Given the description of an element on the screen output the (x, y) to click on. 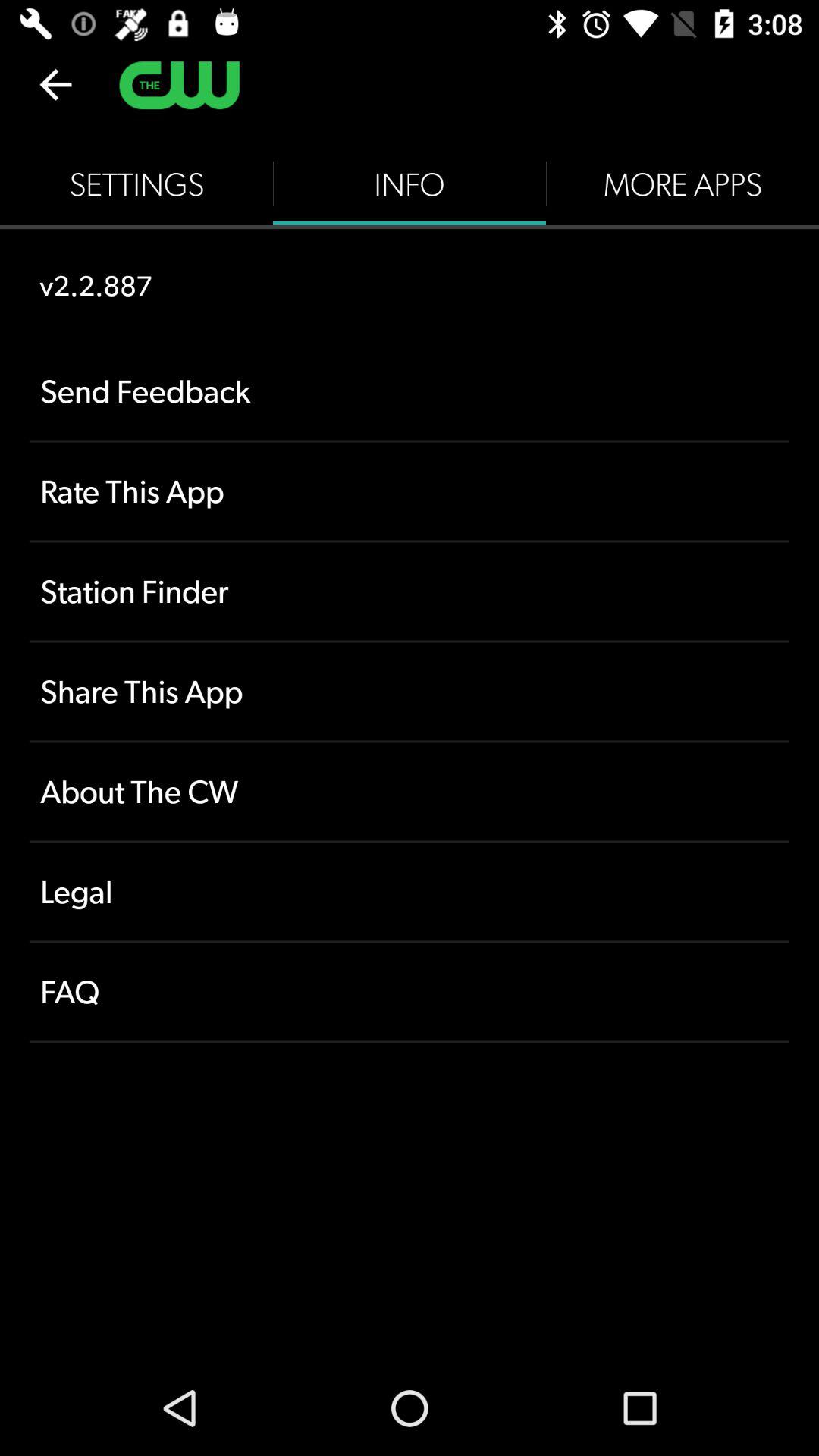
launch the more apps item (682, 184)
